Given the description of an element on the screen output the (x, y) to click on. 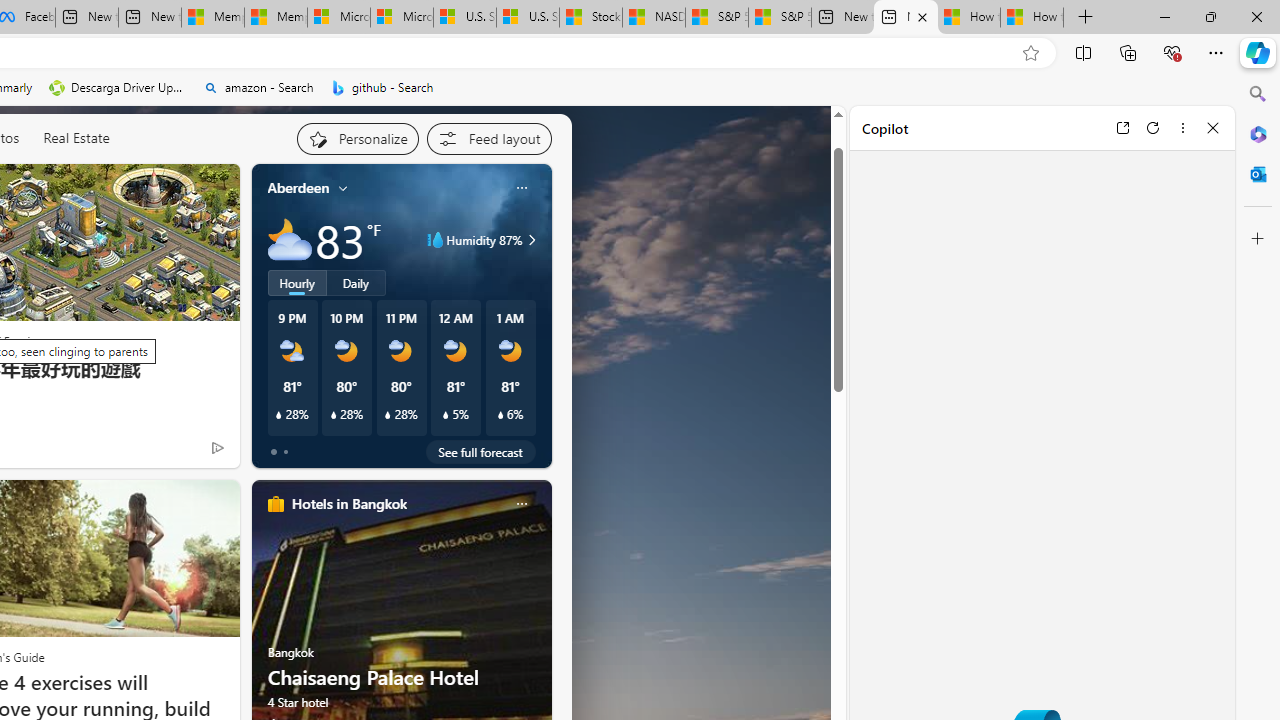
Class: weather-current-precipitation-glyph (500, 415)
Class: icon-img (521, 503)
Hotels in Bangkok (348, 503)
Microsoft 365 (1258, 133)
Hourly (296, 282)
Ad Choice (217, 447)
Open link in new tab (1122, 127)
tab-1 (285, 451)
